Given the description of an element on the screen output the (x, y) to click on. 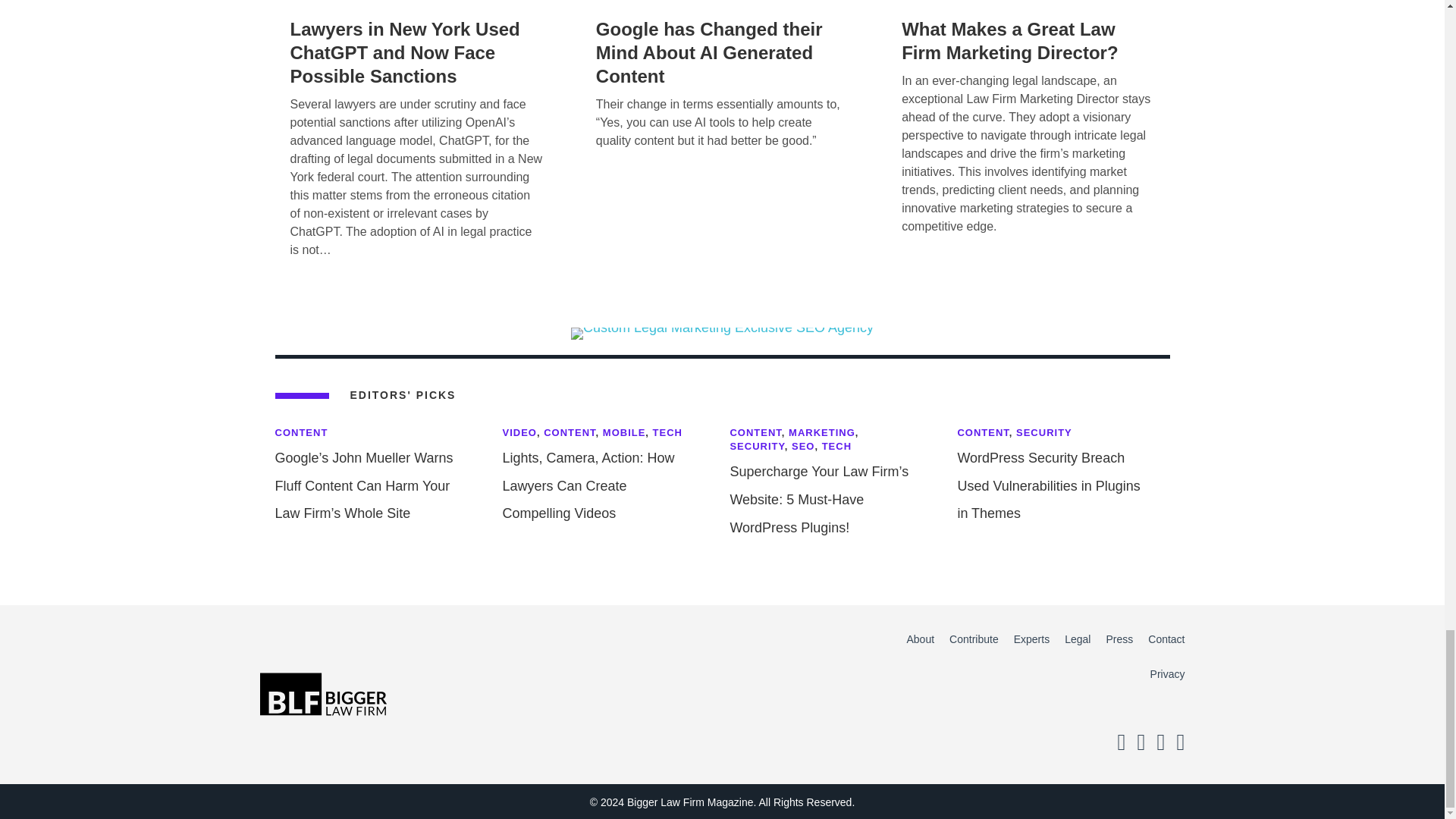
What Makes a Great Law Firm Marketing Director? (1009, 40)
Custom Legal Marketing Exclusive SEO Agency (721, 333)
Google has Changed their Mind About AI Generated Content (708, 52)
